Given the description of an element on the screen output the (x, y) to click on. 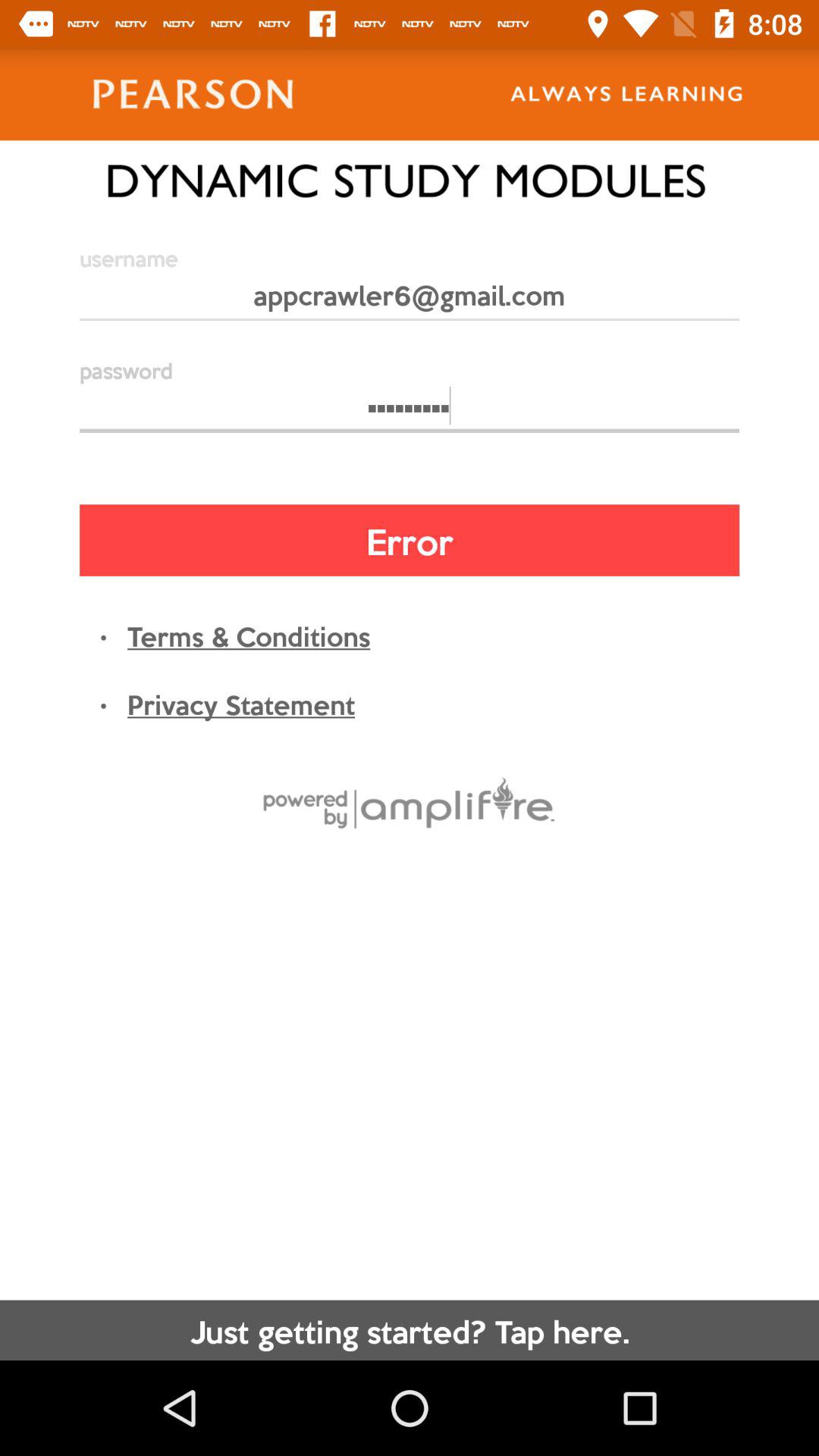
launch the item below crowd3116 item (409, 540)
